Given the description of an element on the screen output the (x, y) to click on. 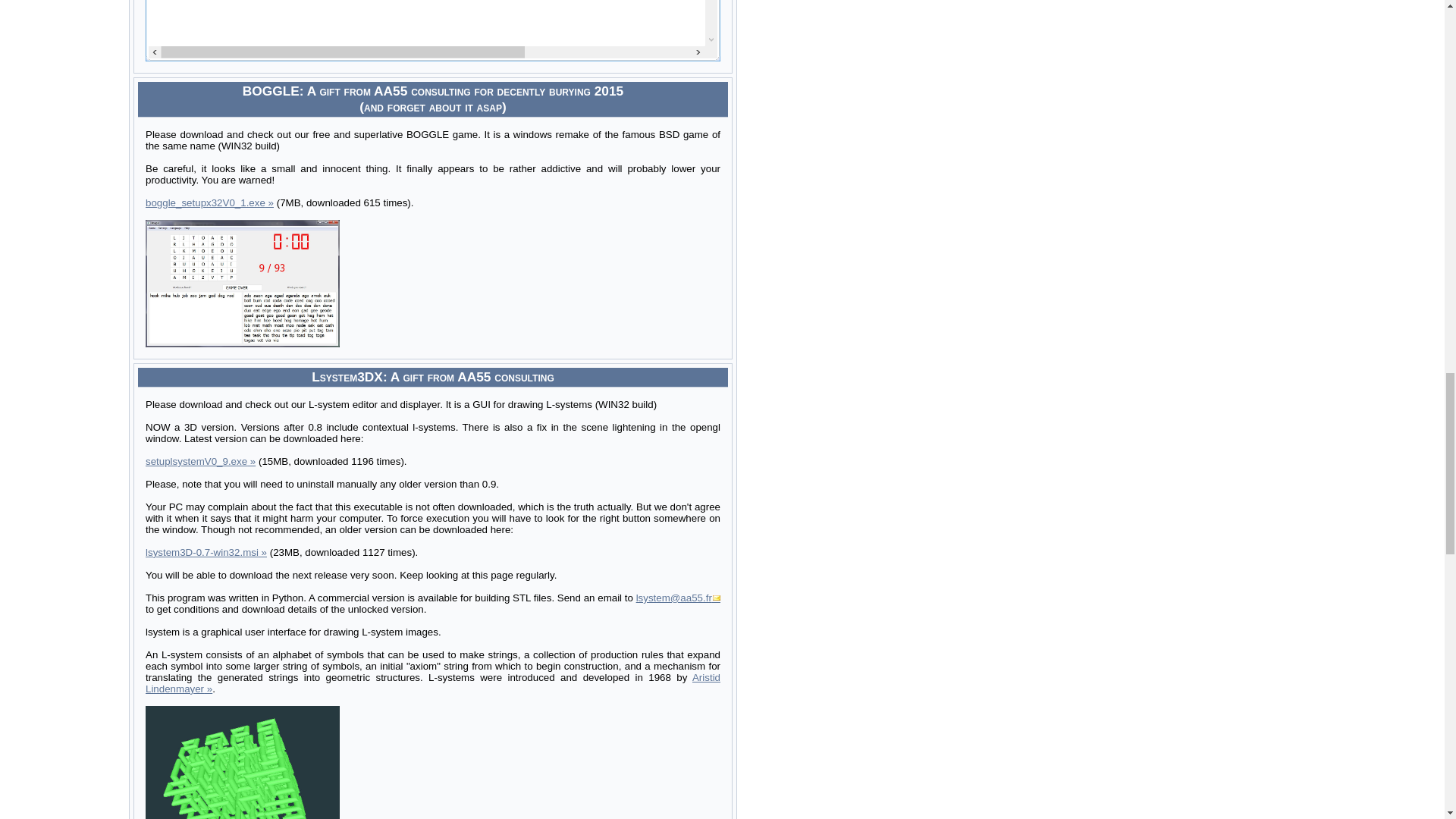
Aristid Lindenmayer (432, 682)
report on lsystem (678, 597)
Aristid Lindenmayer (432, 682)
lsystem3D-0.7-win32.msi (205, 552)
